Given the description of an element on the screen output the (x, y) to click on. 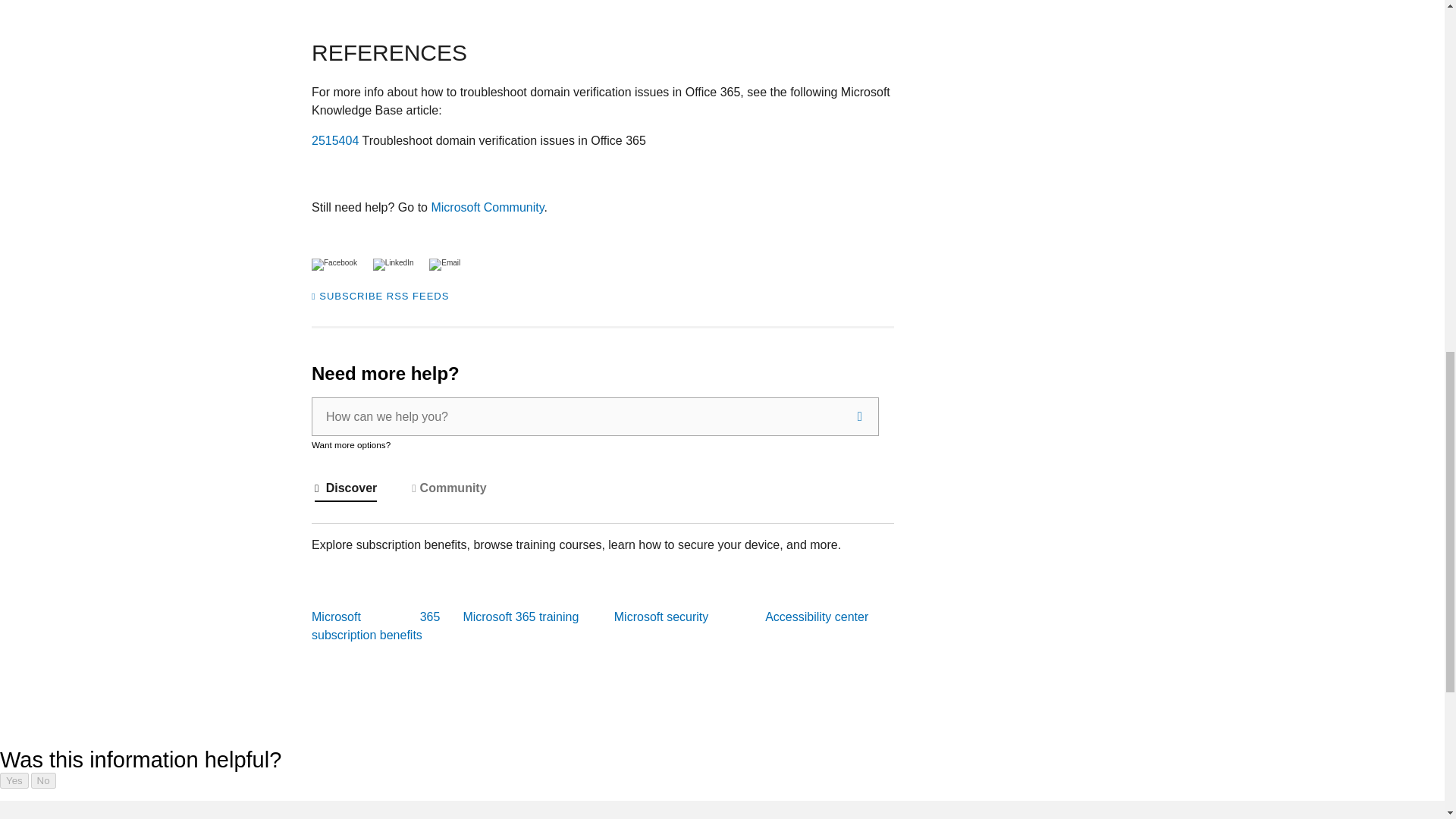
Share on LinkedIn (387, 261)
Search (860, 416)
Share by email (437, 261)
Share on Facebook (335, 261)
